Given the description of an element on the screen output the (x, y) to click on. 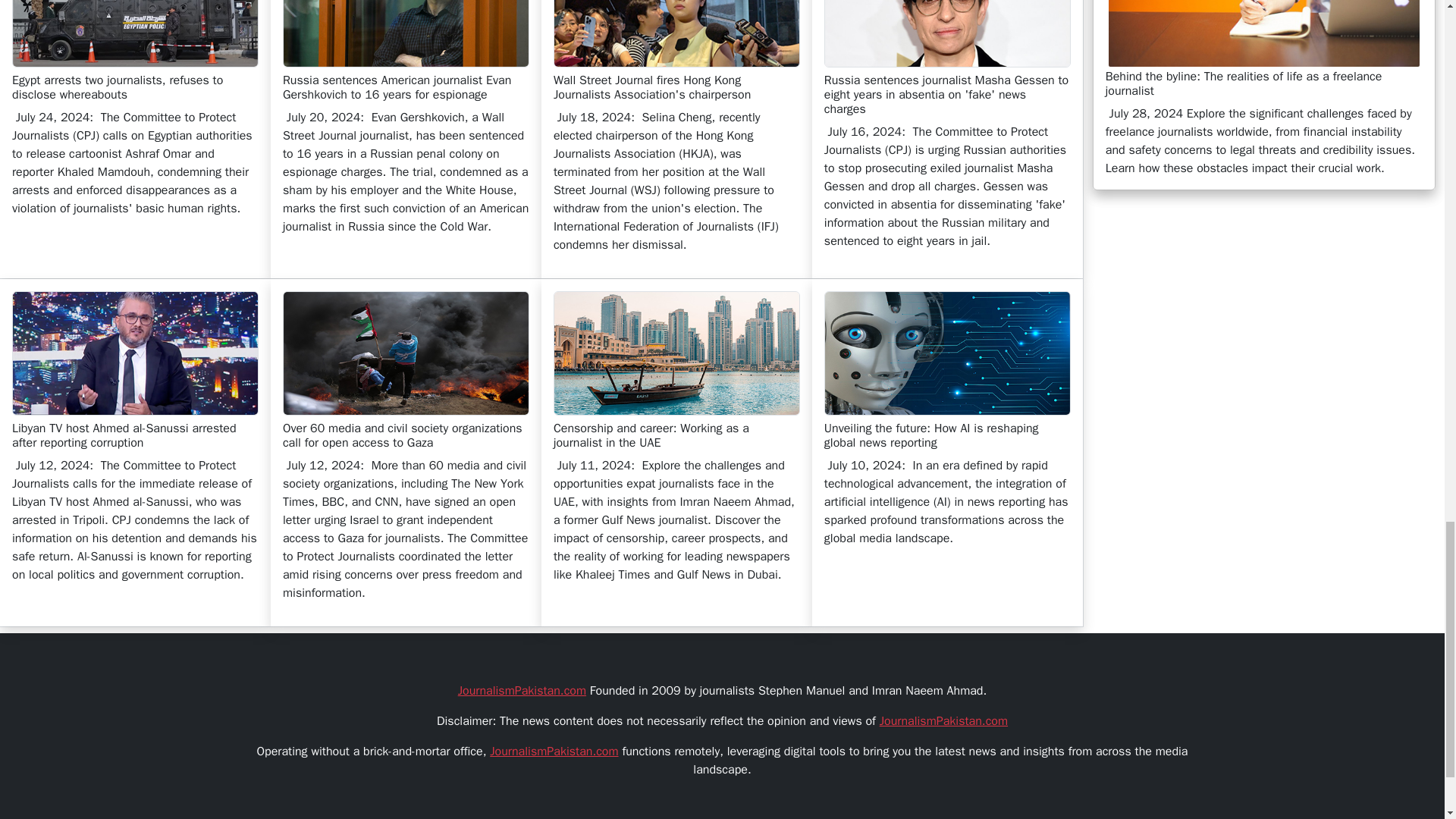
Censorship and career: Working as a journalist in the UAE (676, 352)
